Given the description of an element on the screen output the (x, y) to click on. 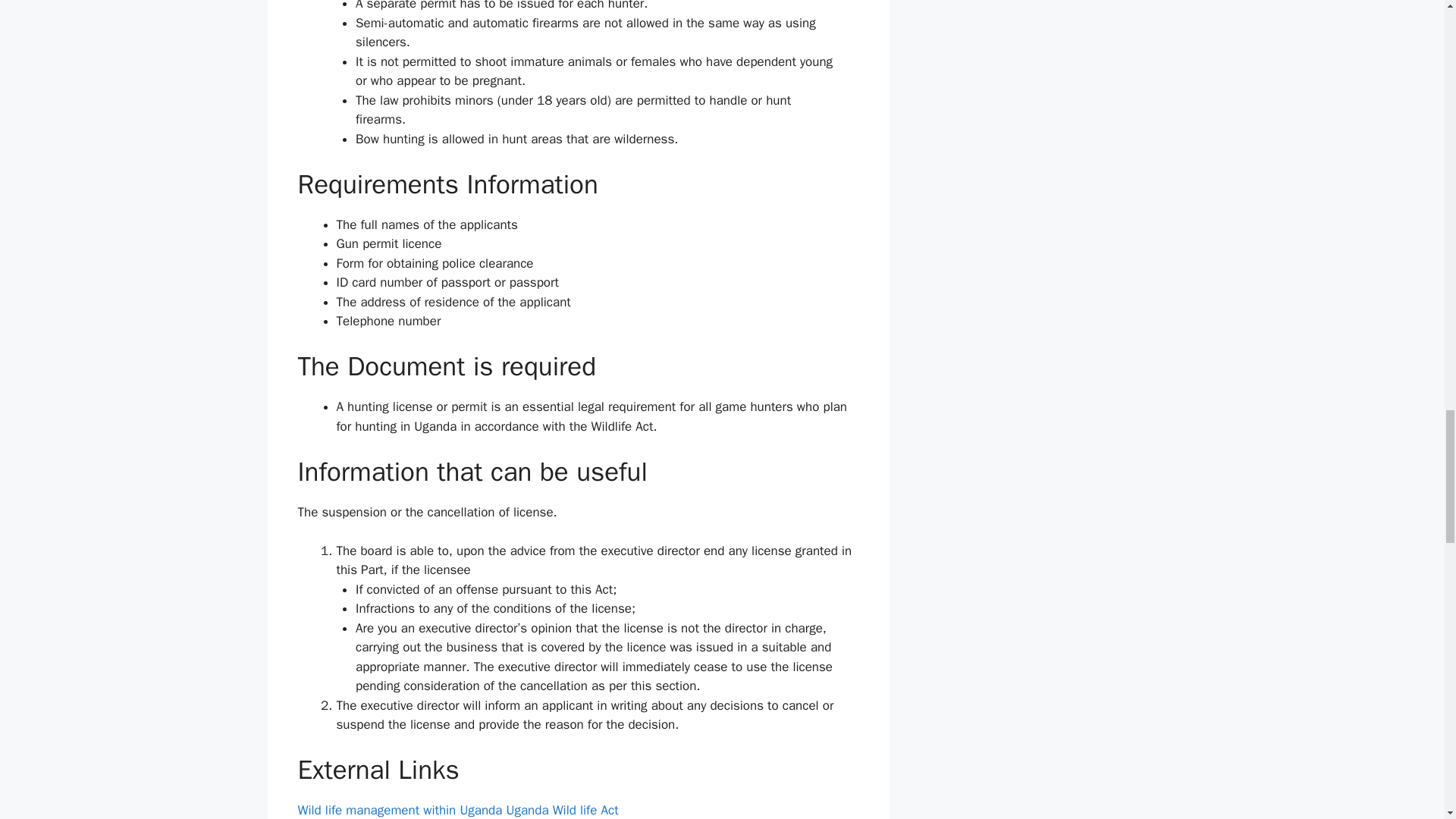
Wild life management within Uganda (399, 810)
Uganda Wild life Act (562, 810)
